Given the description of an element on the screen output the (x, y) to click on. 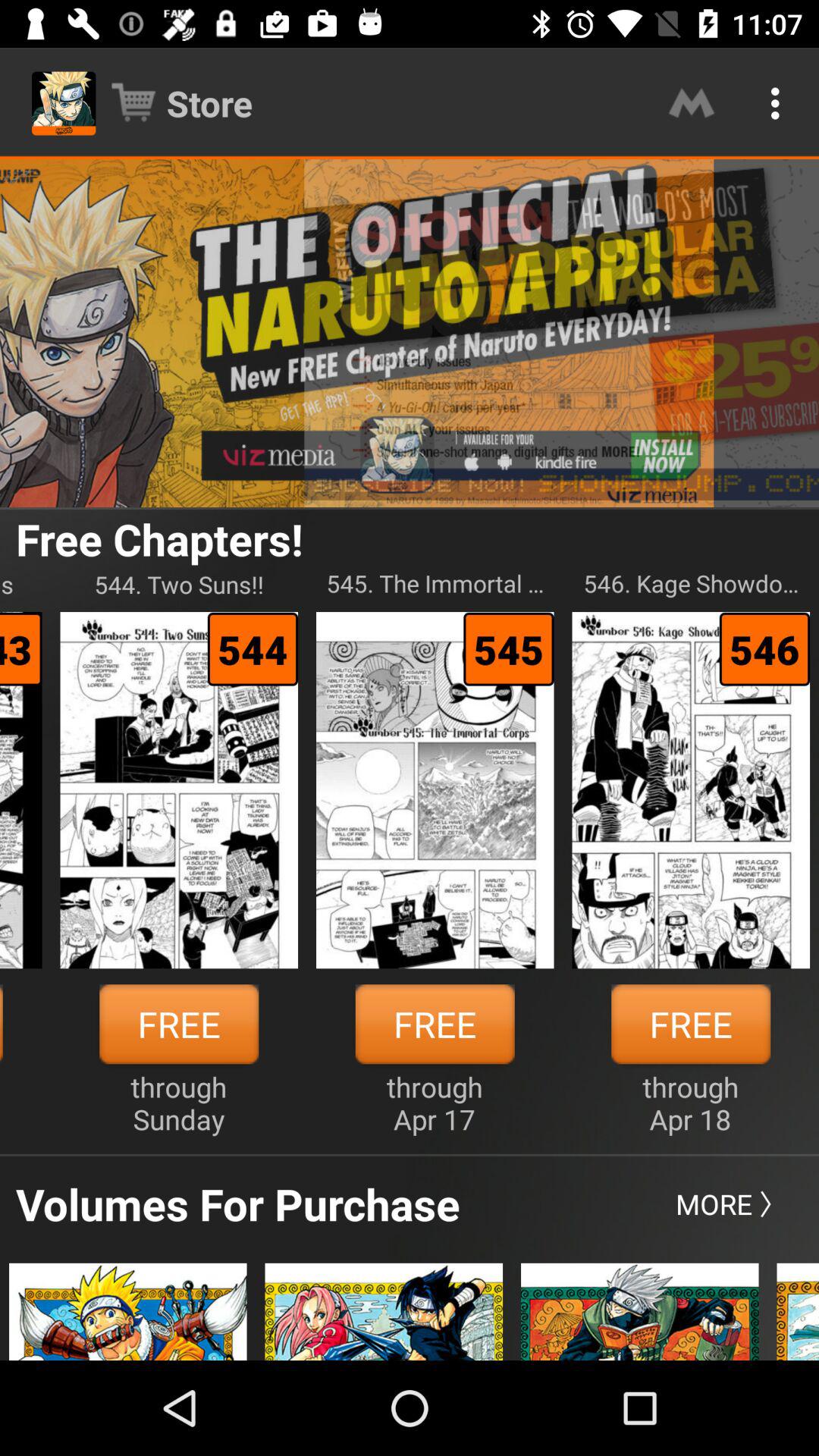
flip to 546. kage showdown!! icon (691, 584)
